Given the description of an element on the screen output the (x, y) to click on. 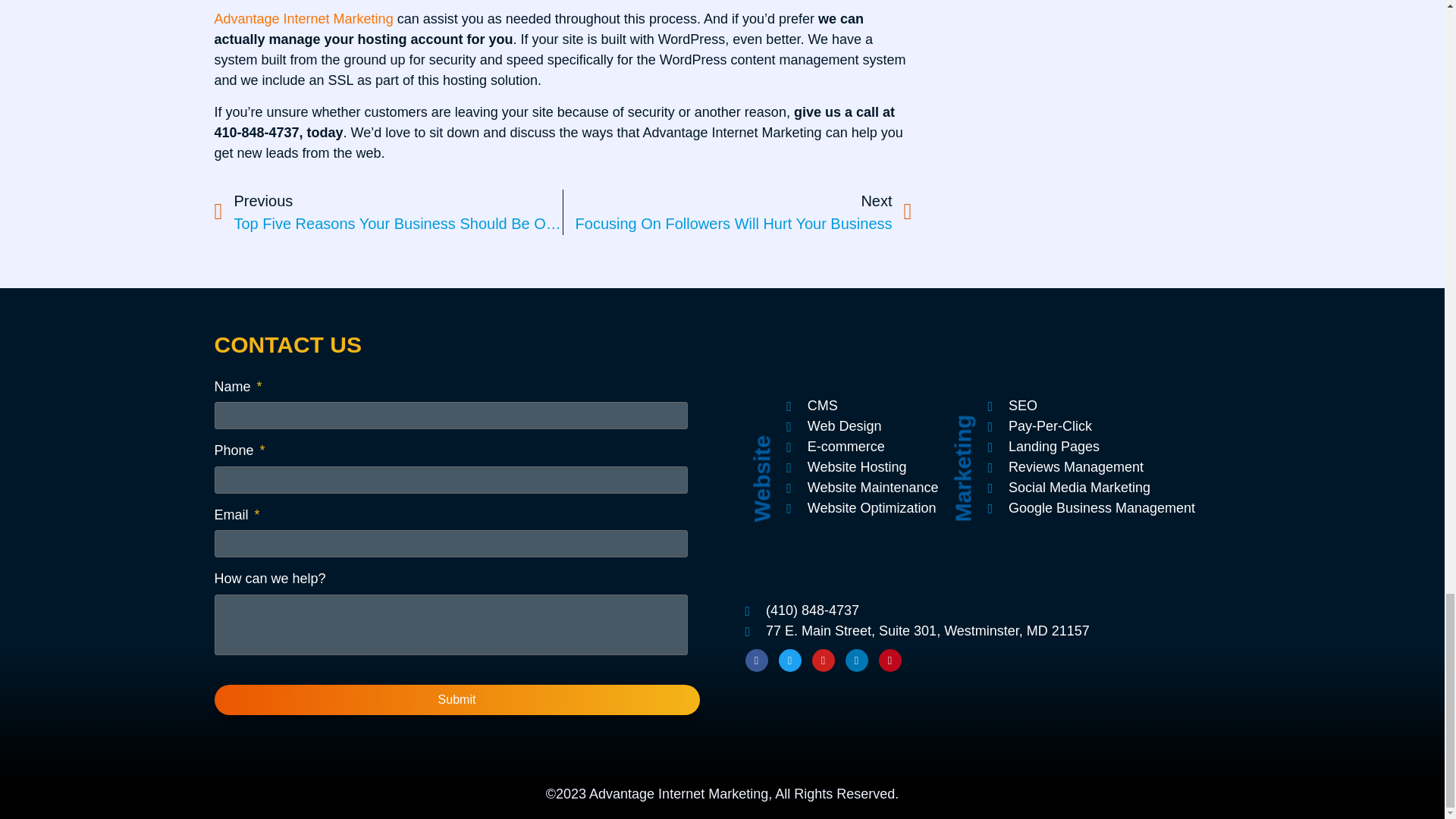
Website Maintenance (861, 487)
SEO (1091, 405)
Submit (456, 699)
CMS (861, 405)
Submit (737, 212)
Website Optimization (456, 699)
Website Hosting (861, 507)
E-commerce (861, 467)
Advantage Internet Marketing (861, 446)
Web Design (303, 18)
